Given the description of an element on the screen output the (x, y) to click on. 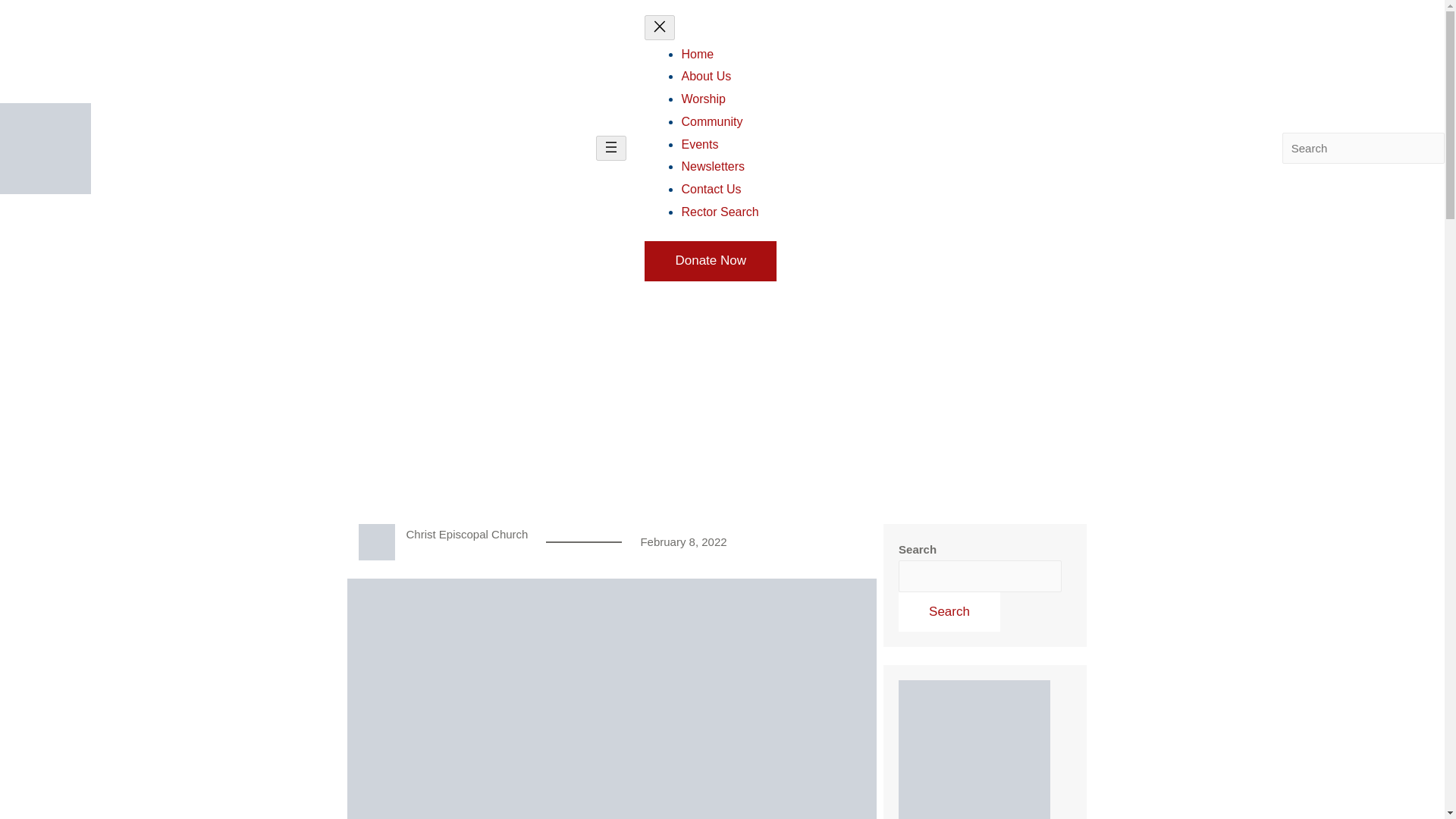
About Us (705, 75)
Community (711, 121)
Newsletters (712, 165)
Home (697, 53)
Donate Now (710, 260)
Rector Search (719, 211)
Contact Us (711, 188)
Worship (703, 98)
Search (949, 612)
Events (699, 144)
